Given the description of an element on the screen output the (x, y) to click on. 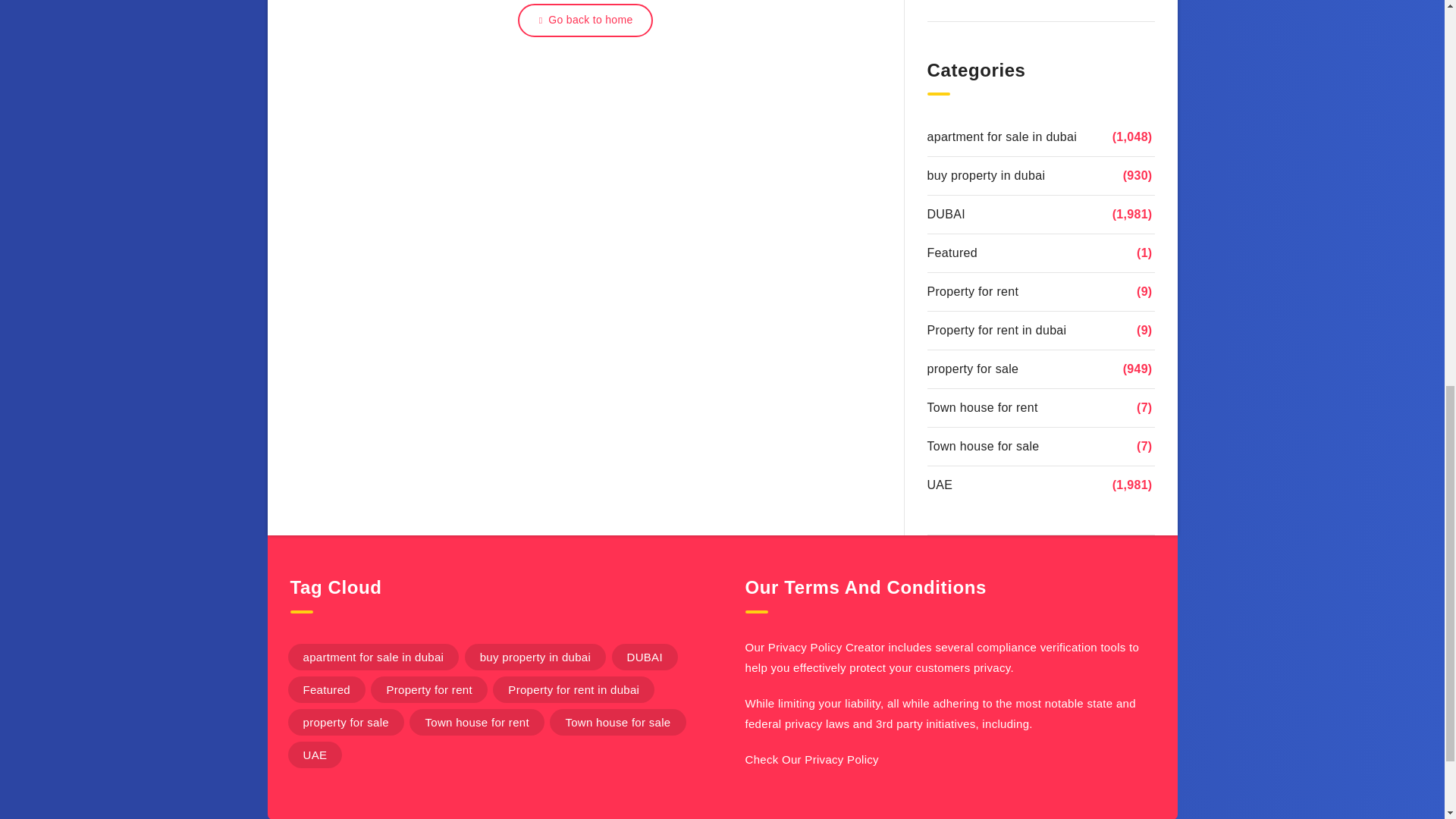
Property for rent (428, 689)
Town house for rent (981, 407)
Town house for sale (982, 445)
DUBAI (944, 214)
UAE (939, 485)
Go back to home (585, 20)
Town house for sale (617, 722)
UAE (315, 755)
Featured (326, 689)
Property for rent (971, 291)
